Given the description of an element on the screen output the (x, y) to click on. 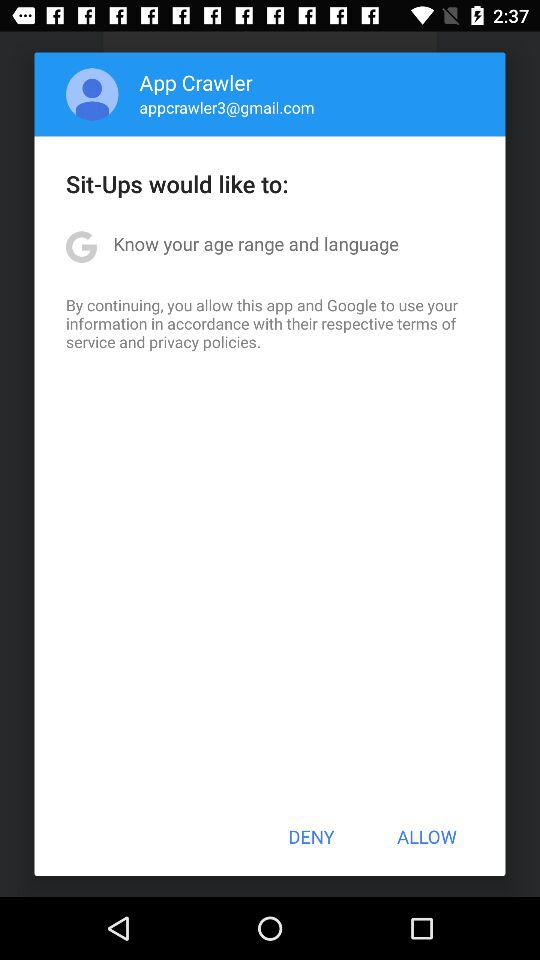
choose item next to the app crawler icon (92, 94)
